Given the description of an element on the screen output the (x, y) to click on. 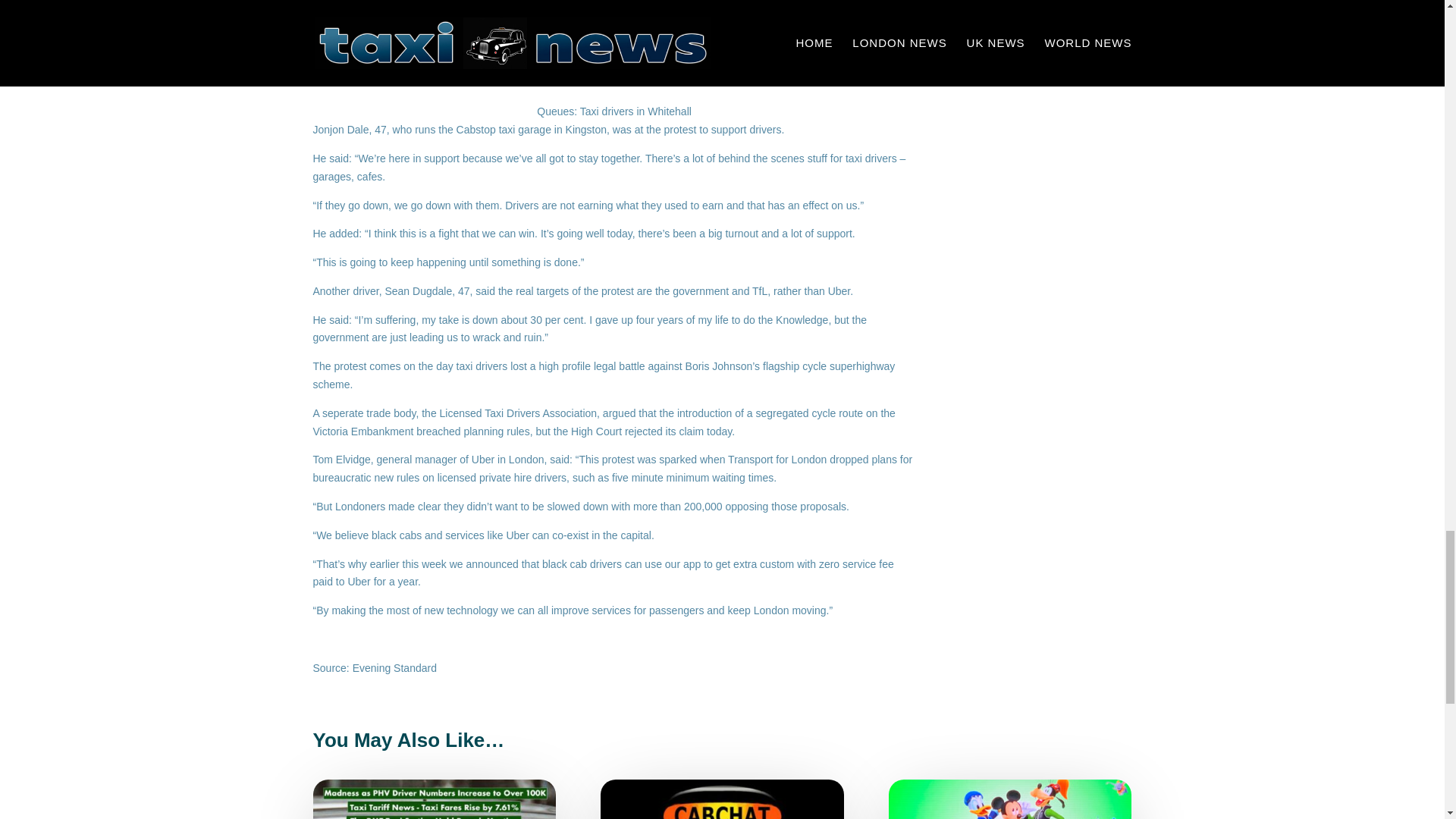
TAXIPROTEST1002A.jpg (614, 51)
